Given the description of an element on the screen output the (x, y) to click on. 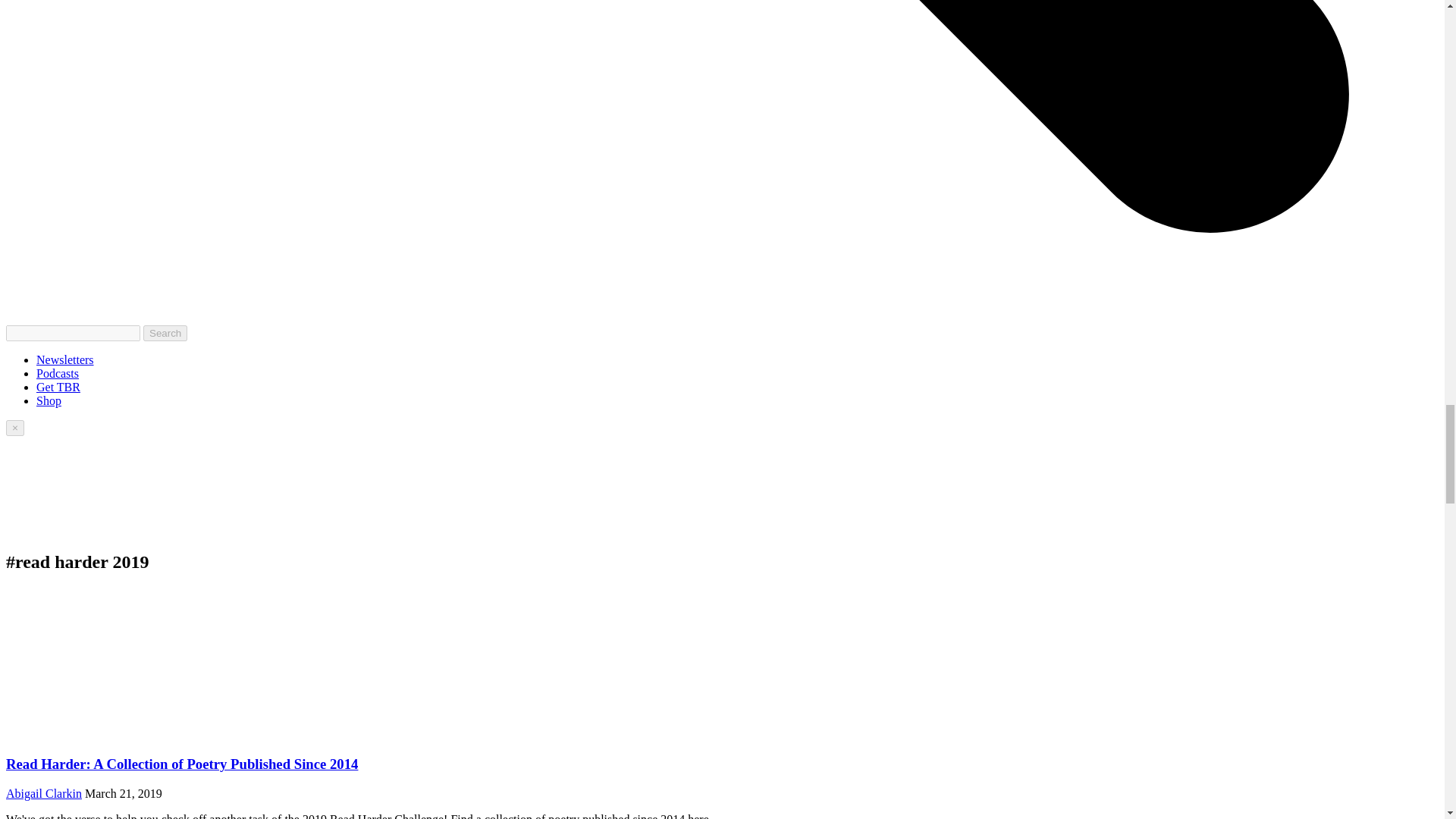
Search (164, 333)
